Given the description of an element on the screen output the (x, y) to click on. 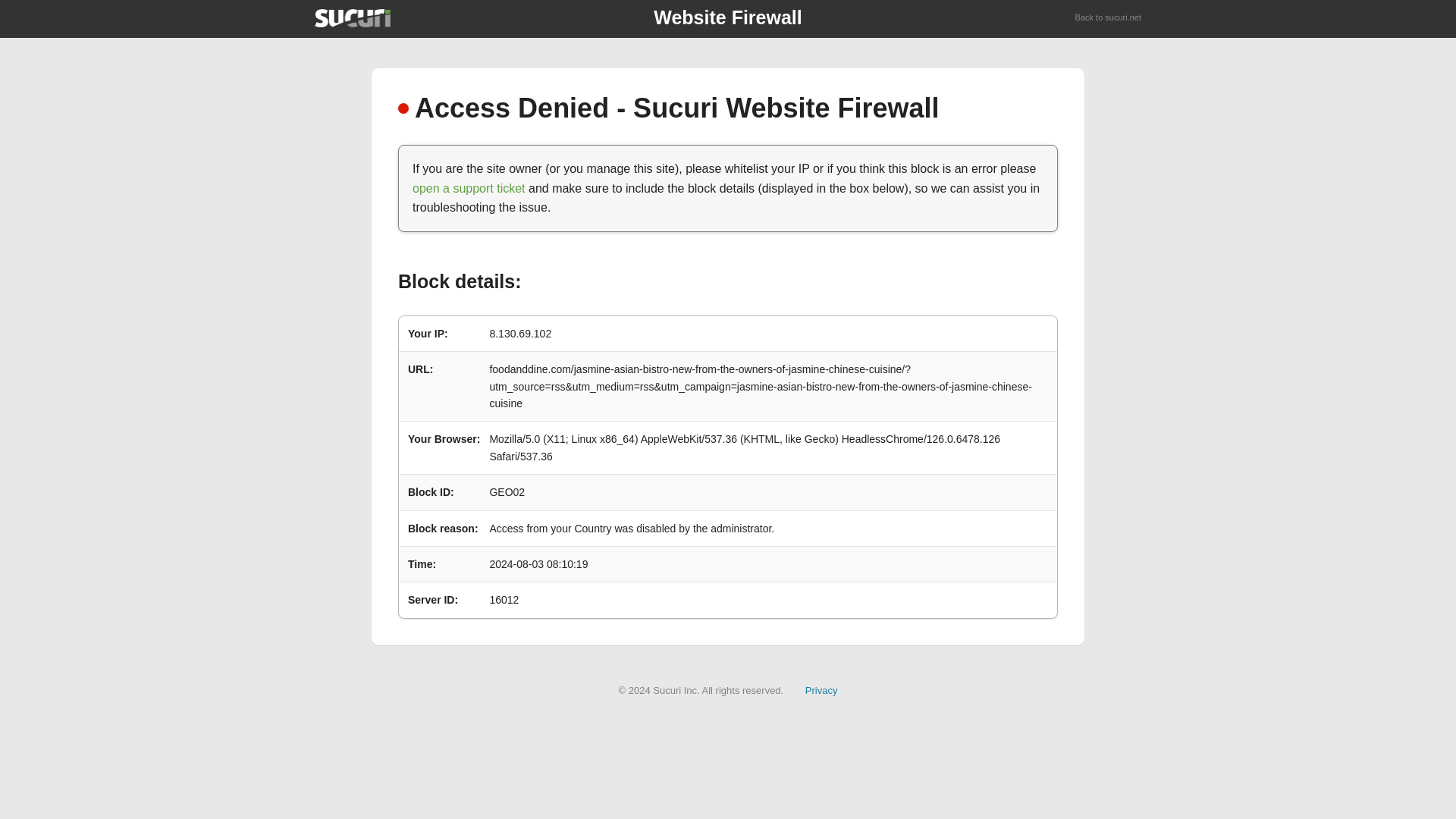
open a support ticket (468, 187)
Privacy (821, 690)
Back to sucuri.net (1108, 18)
